Given the description of an element on the screen output the (x, y) to click on. 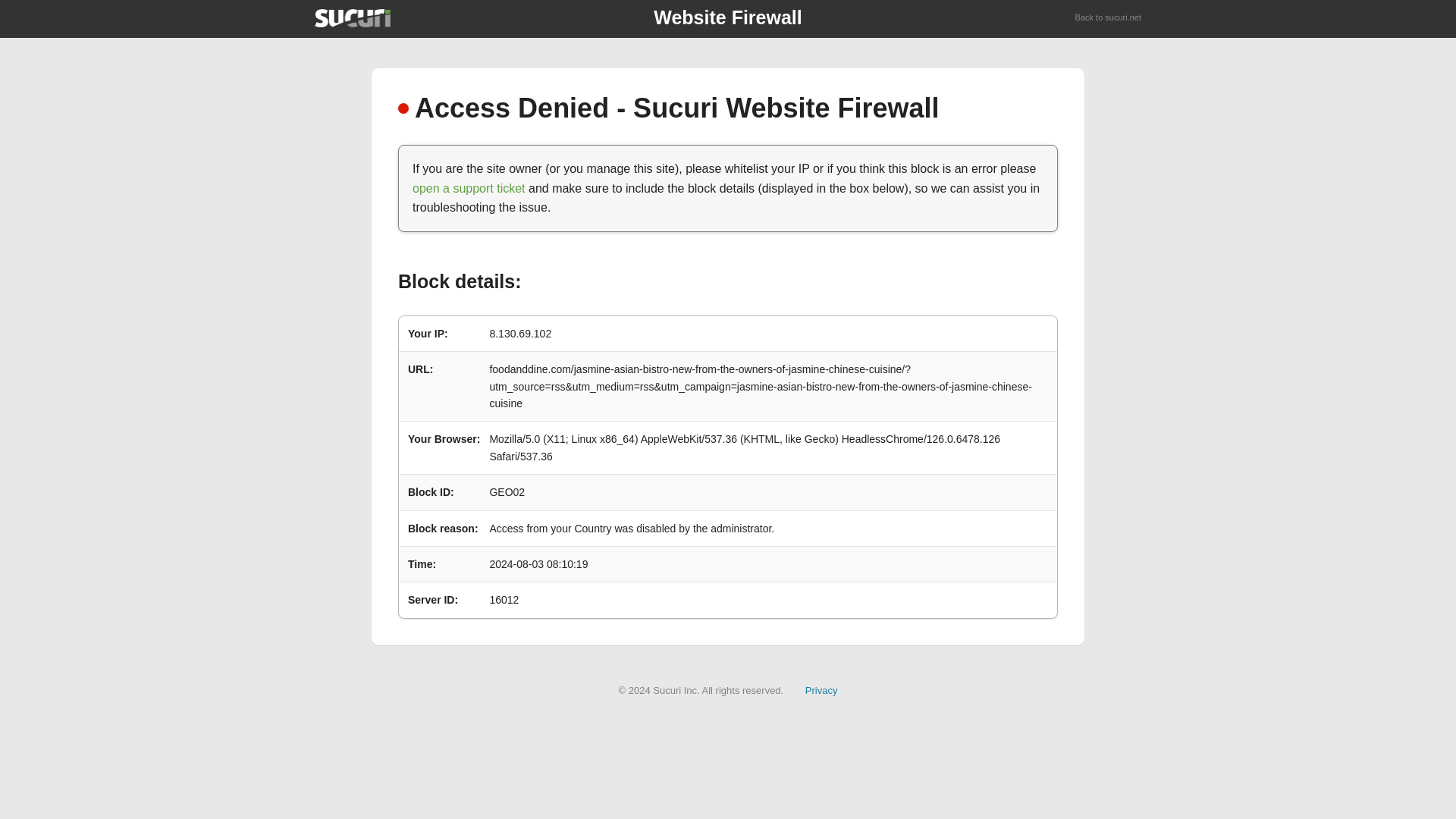
open a support ticket (468, 187)
Privacy (821, 690)
Back to sucuri.net (1108, 18)
